Given the description of an element on the screen output the (x, y) to click on. 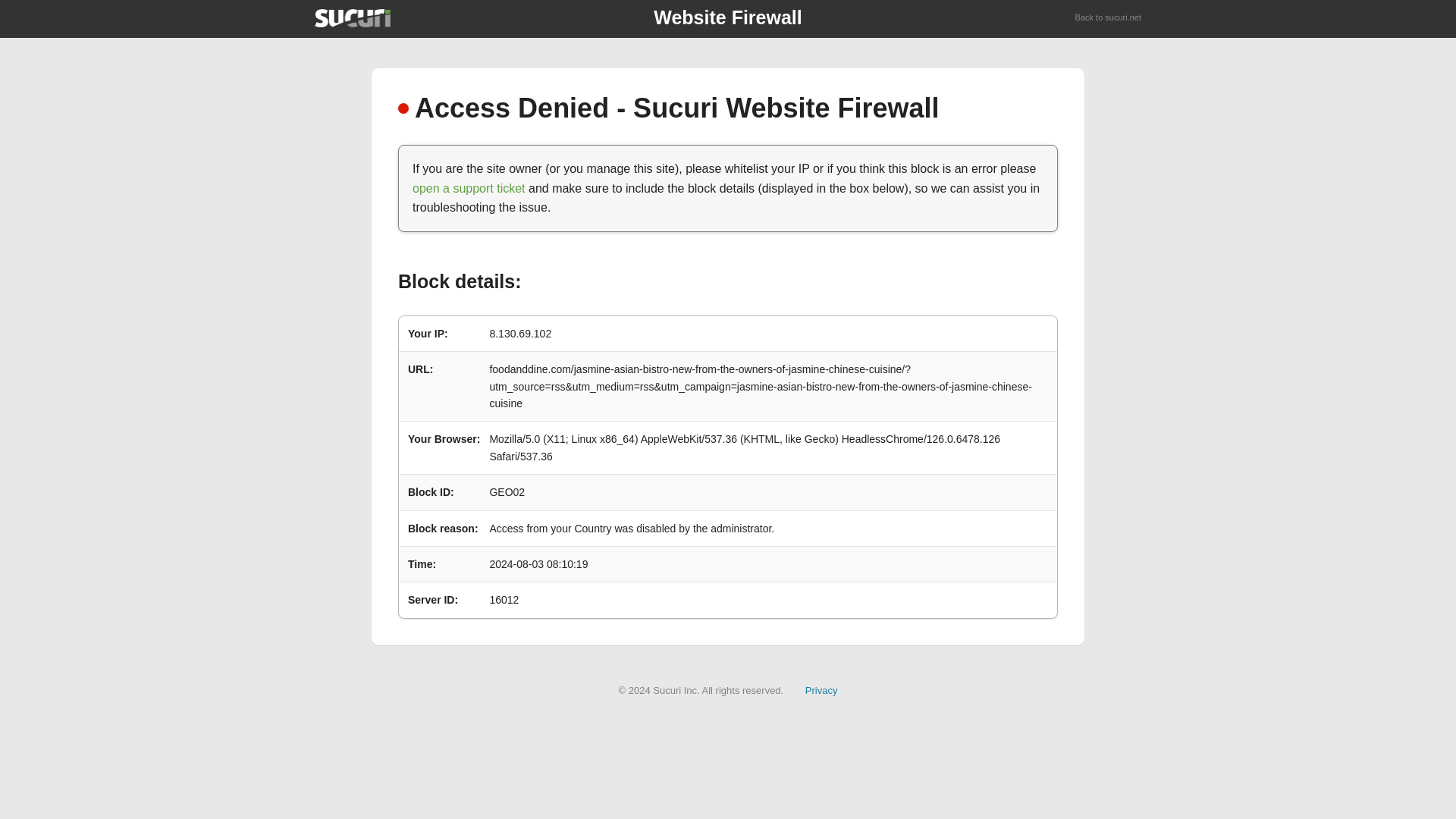
open a support ticket (468, 187)
Privacy (821, 690)
Back to sucuri.net (1108, 18)
